Given the description of an element on the screen output the (x, y) to click on. 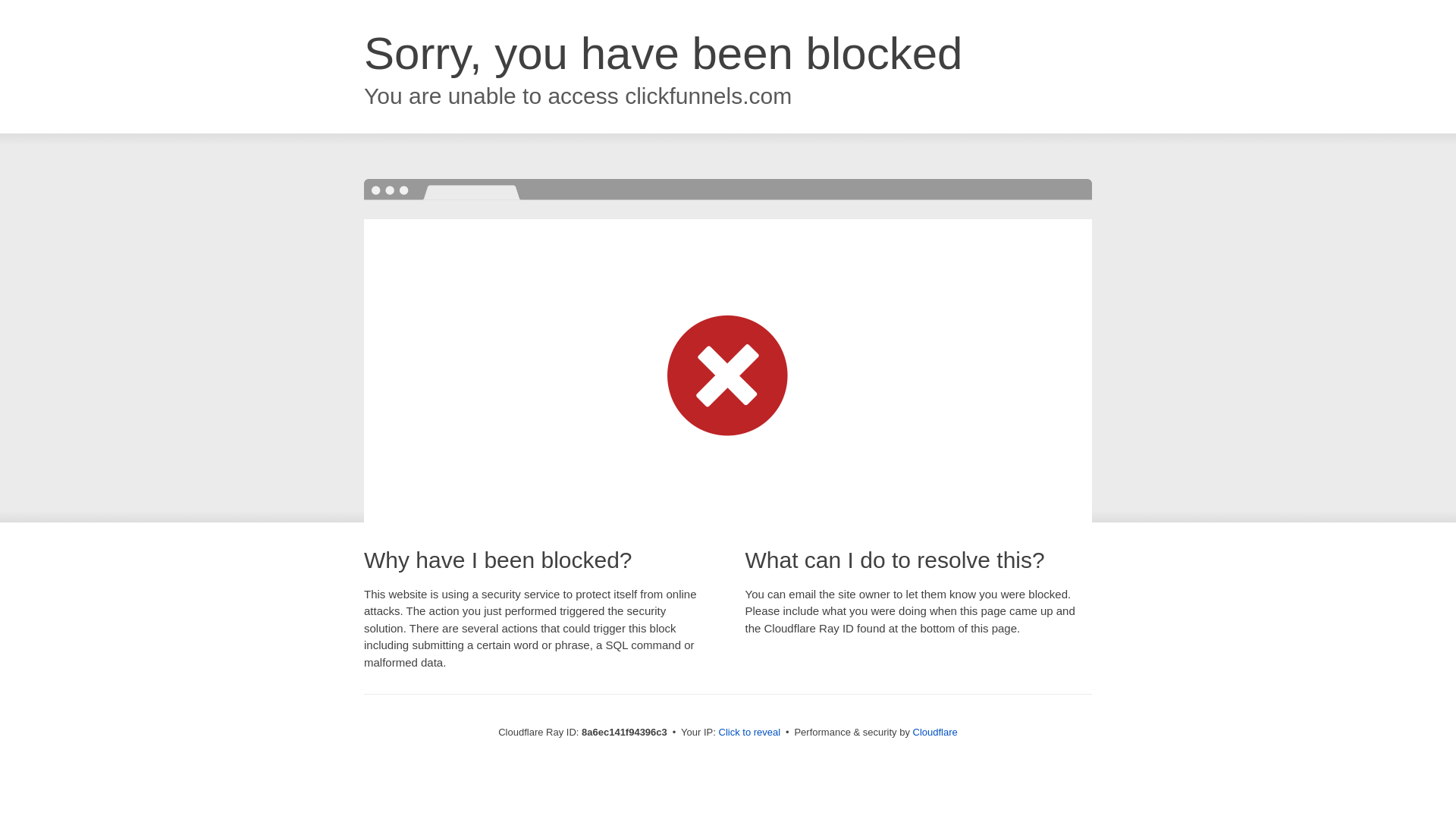
Cloudflare (935, 731)
Click to reveal (749, 732)
